Given the description of an element on the screen output the (x, y) to click on. 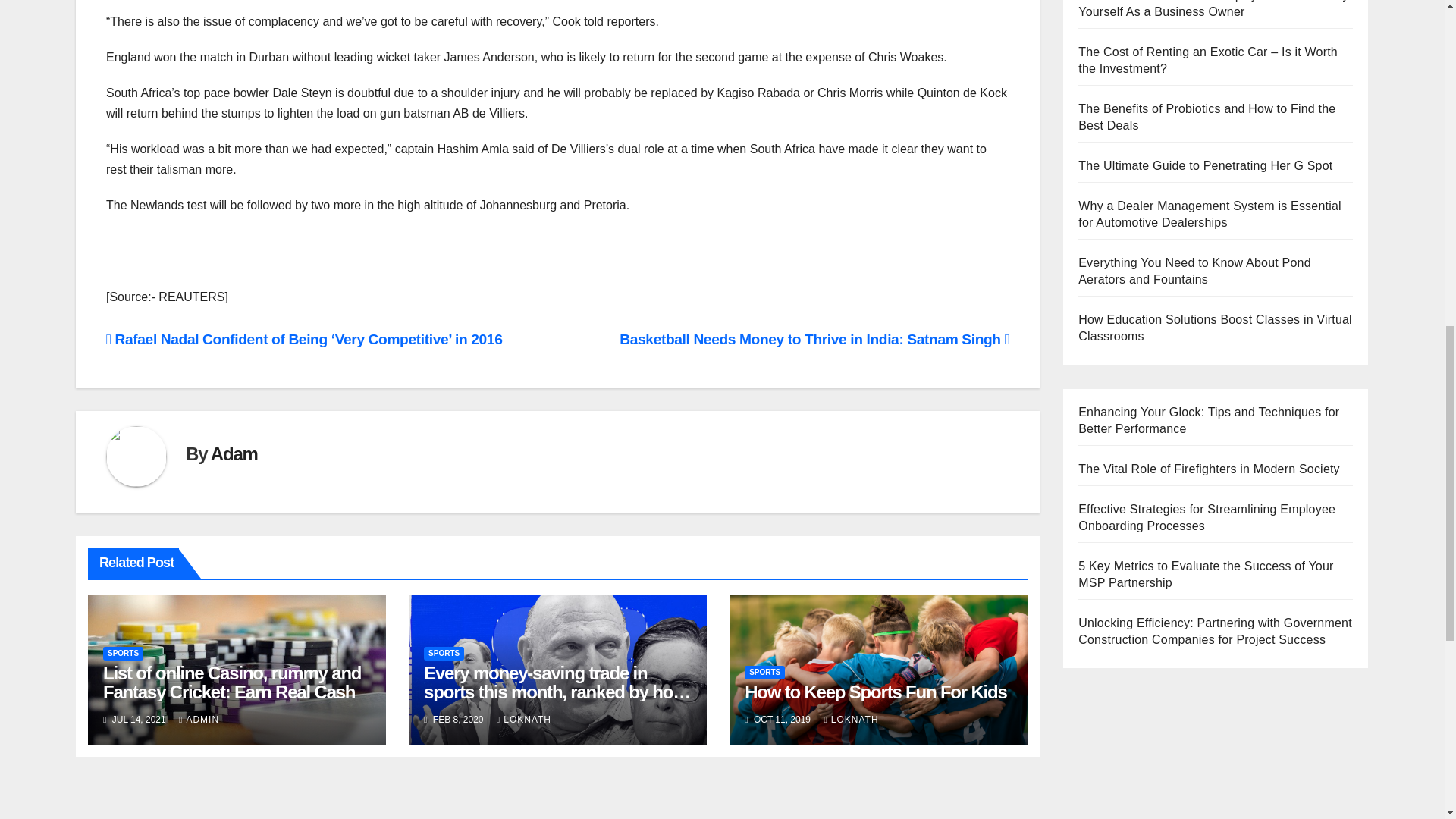
Basketball Needs Money to Thrive in India: Satnam Singh (814, 339)
Adam (234, 453)
ADMIN (199, 719)
LOKNATH (523, 719)
SPORTS (443, 653)
SPORTS (122, 653)
